Given the description of an element on the screen output the (x, y) to click on. 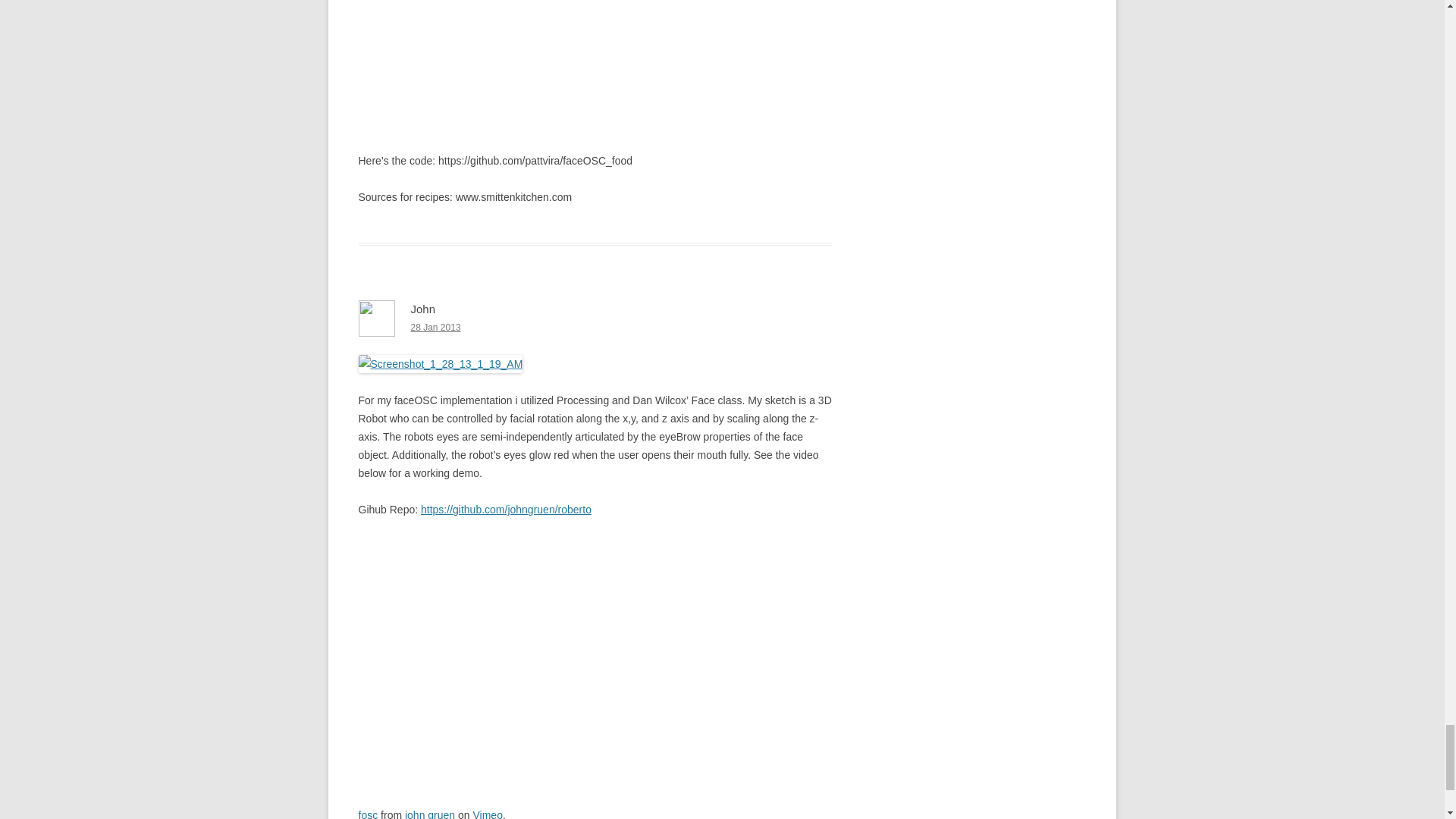
Permalink to Upkit Intensive: FaceOSC (435, 327)
